Given the description of an element on the screen output the (x, y) to click on. 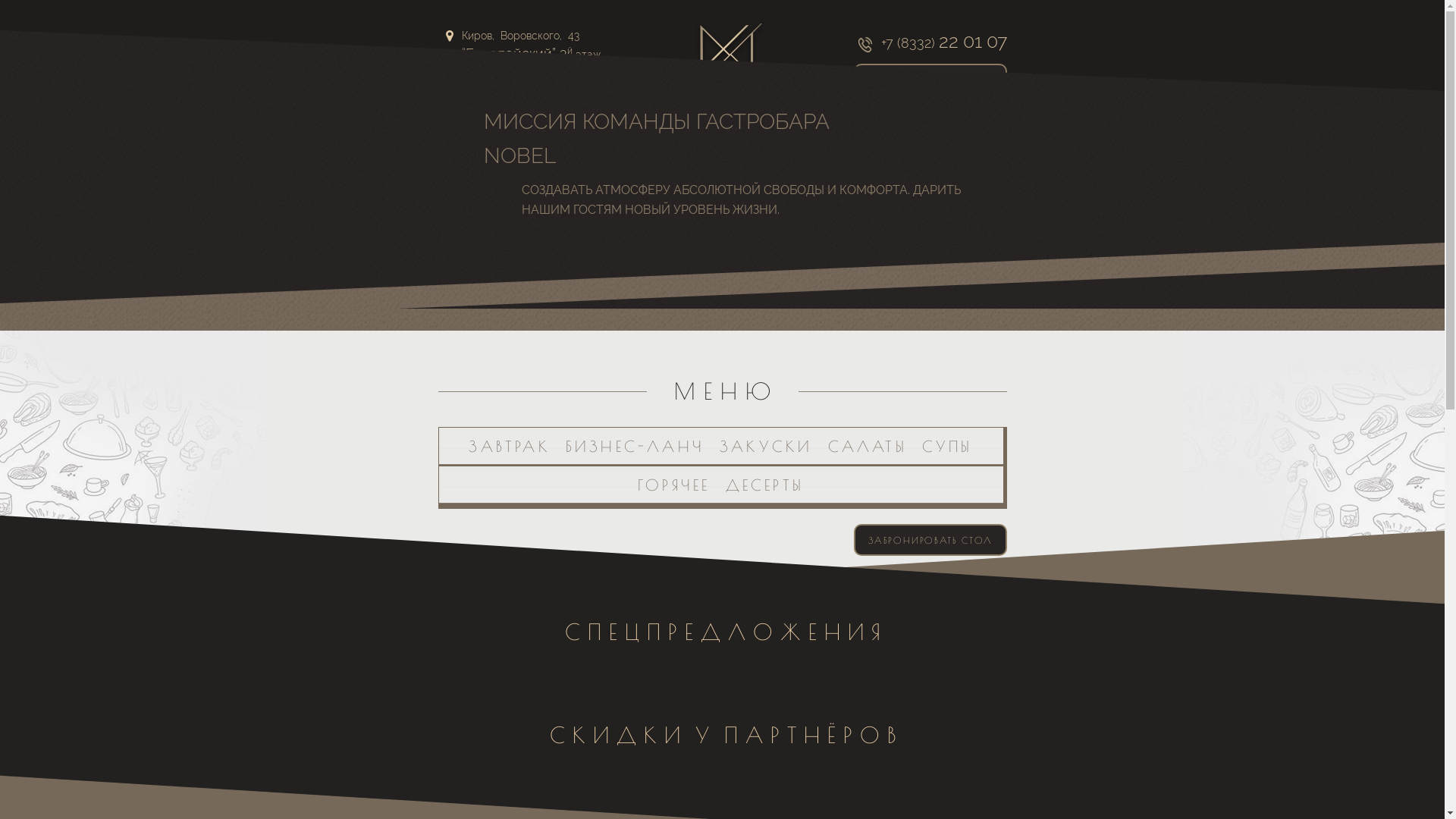
+7 (8332) 22 01 07 Element type: text (930, 44)
